Given the description of an element on the screen output the (x, y) to click on. 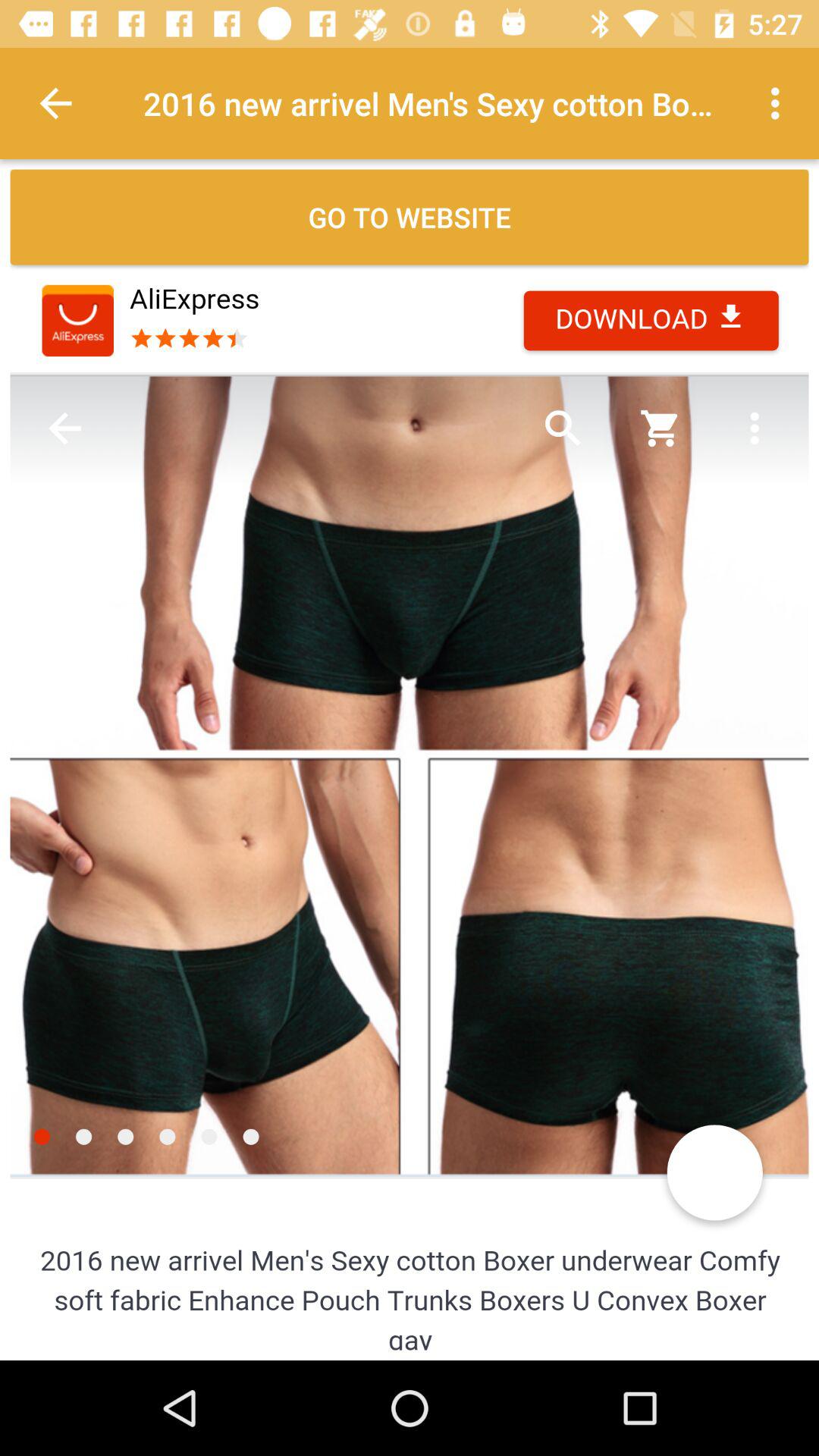
enlarge photo (409, 809)
